Given the description of an element on the screen output the (x, y) to click on. 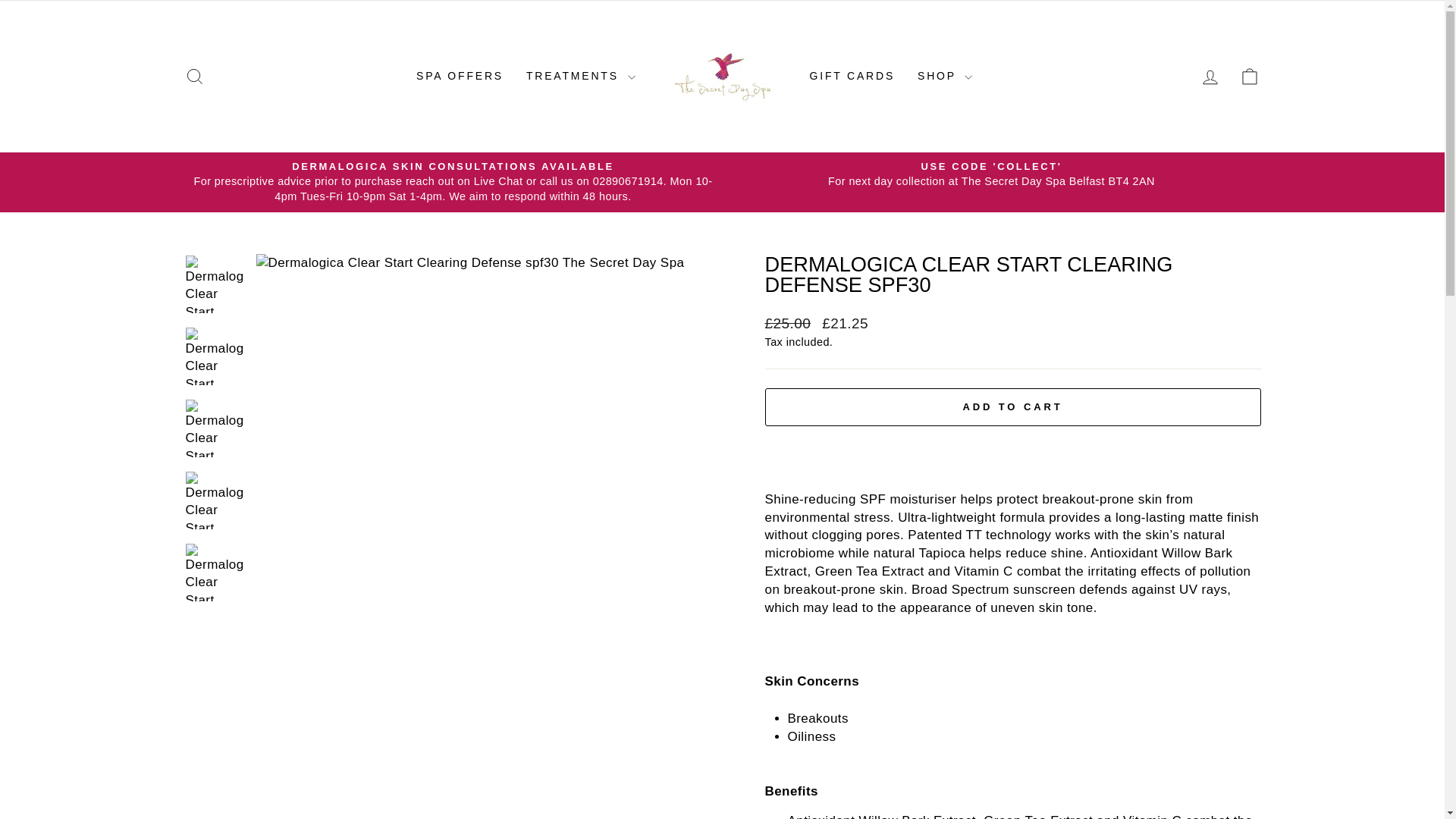
SPA OFFERS (459, 76)
ACCOUNT (1210, 76)
ICON-BAG-MINIMAL (1249, 76)
GIFT CARDS (851, 76)
ICON-SEARCH (194, 76)
